Given the description of an element on the screen output the (x, y) to click on. 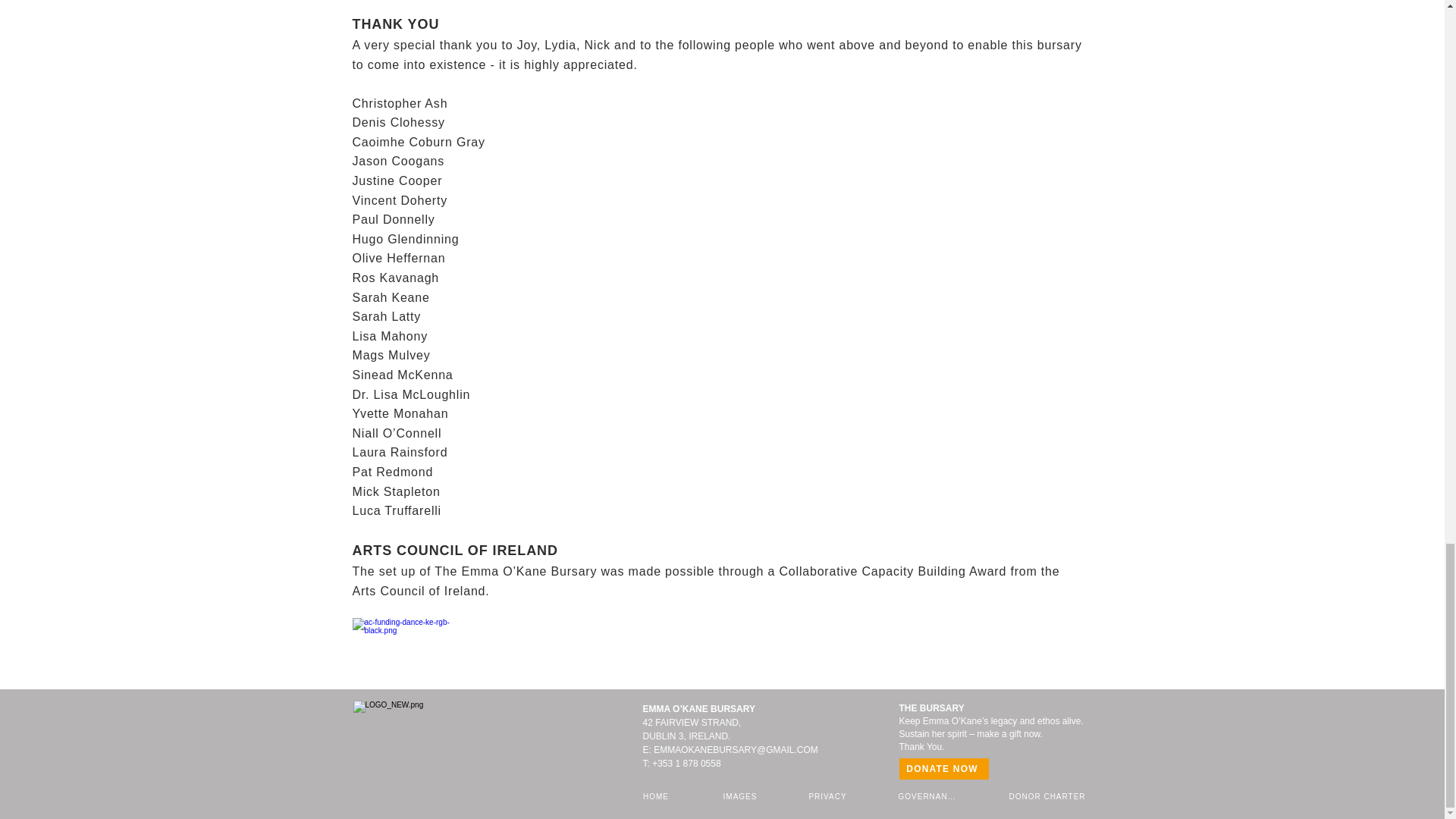
GOVERNANCE (929, 795)
Emma O'Kane Bursary (437, 739)
IMAGES (741, 795)
DONATE NOW (943, 768)
DONOR CHARTER (1049, 795)
PRIVACY (828, 795)
HOME (657, 795)
